Given the description of an element on the screen output the (x, y) to click on. 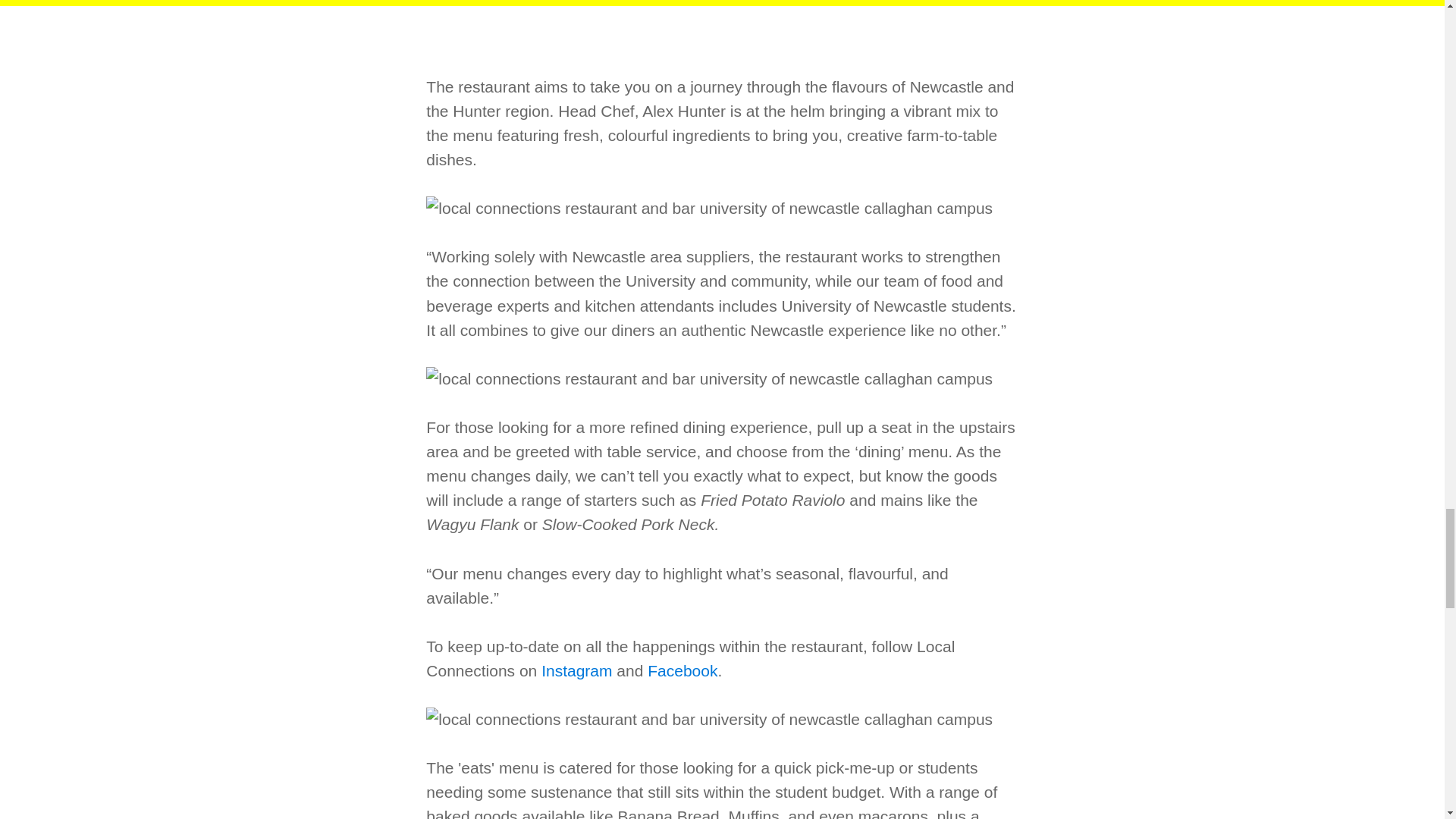
Local Connections (576, 670)
Local Connections. (682, 670)
